Given the description of an element on the screen output the (x, y) to click on. 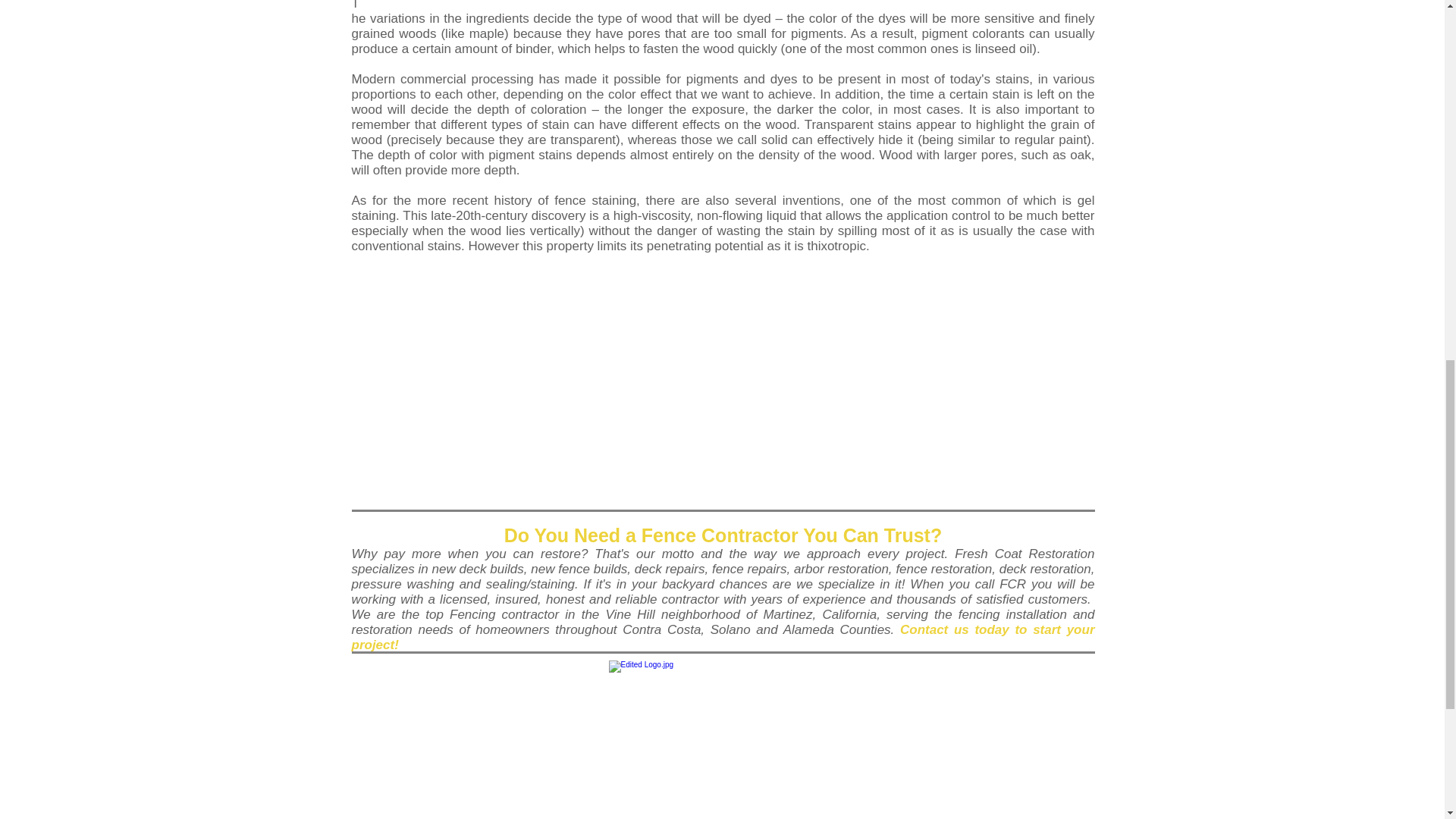
Contact us today to start your project! (723, 636)
